Given the description of an element on the screen output the (x, y) to click on. 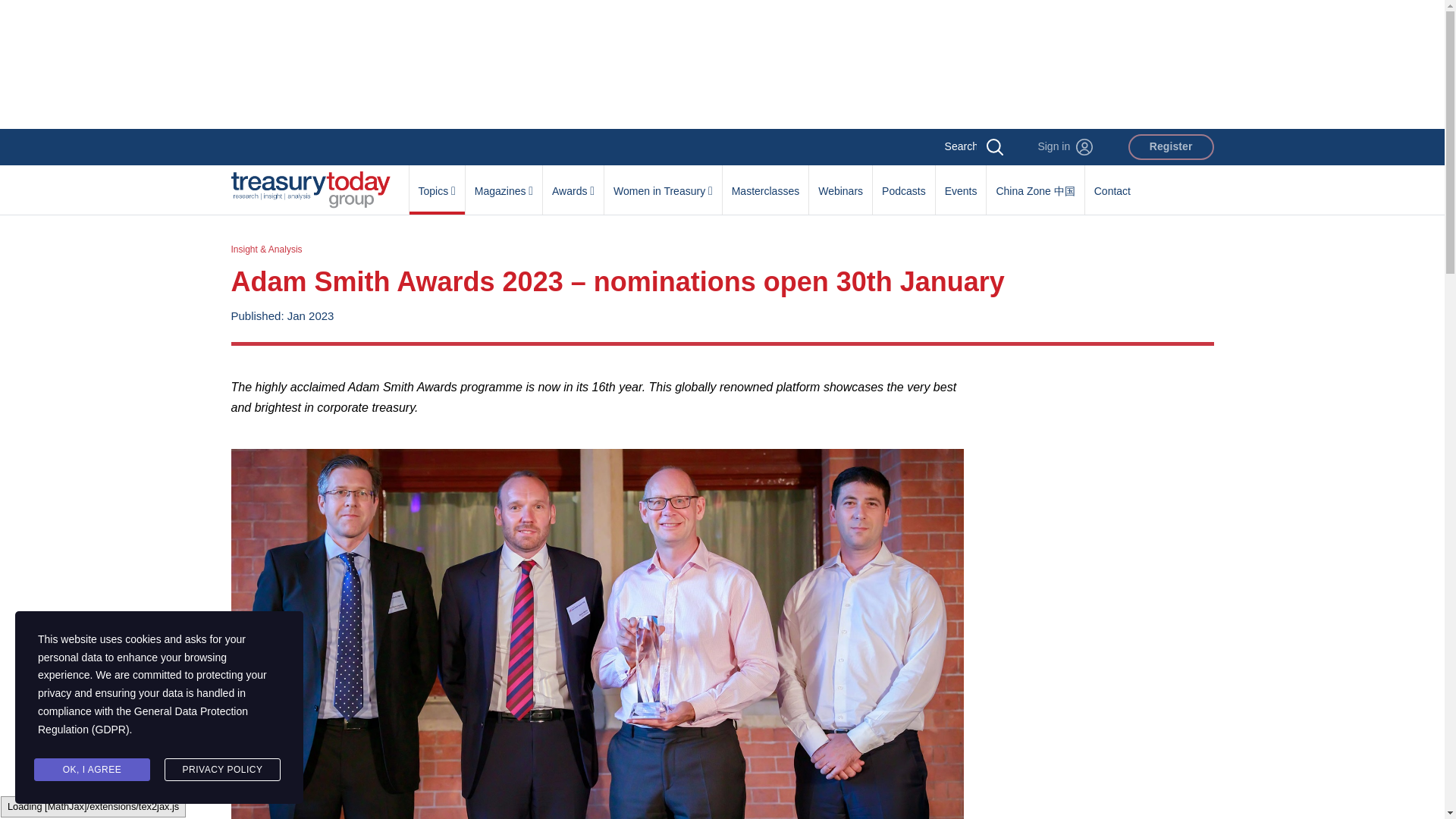
Women in Treasury  (663, 182)
Magazines  (503, 182)
3rd party ad content (1097, 708)
Awards  (573, 182)
Topics  (436, 182)
3rd party ad content (721, 63)
Masterclasses (765, 182)
Register (1171, 146)
3rd party ad content (1097, 471)
Sign in (1064, 146)
